Given the description of an element on the screen output the (x, y) to click on. 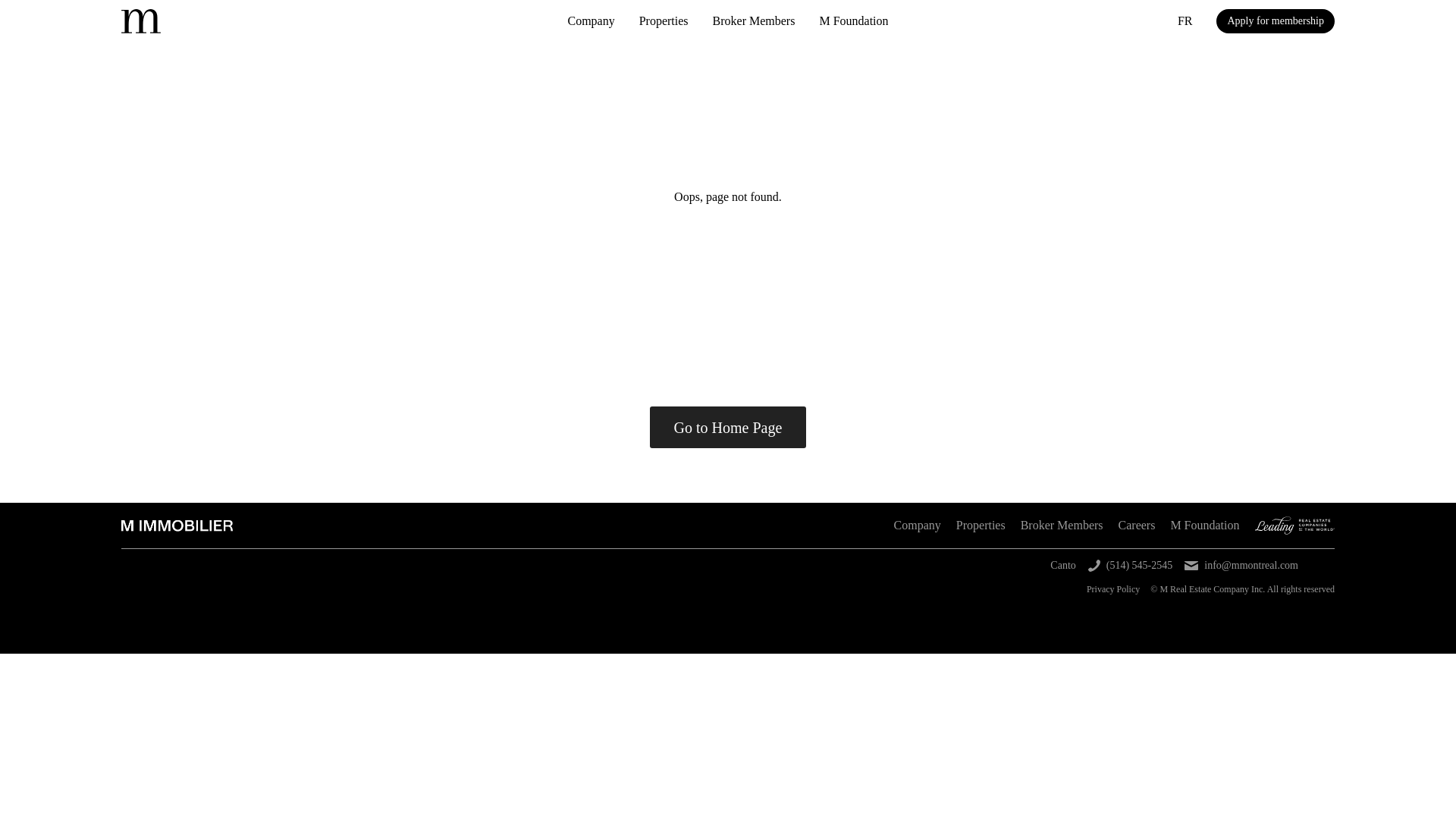
Privacy Policy (1113, 589)
M Foundation (853, 20)
Apply for membership (1275, 21)
Properties (981, 525)
FR (1184, 20)
Broker Members (753, 20)
Canto (1062, 565)
Careers (1137, 525)
M Foundation (1204, 525)
Company (916, 525)
Company (590, 20)
Properties (663, 20)
Go to Home Page (727, 426)
Broker Members (1061, 525)
